Given the description of an element on the screen output the (x, y) to click on. 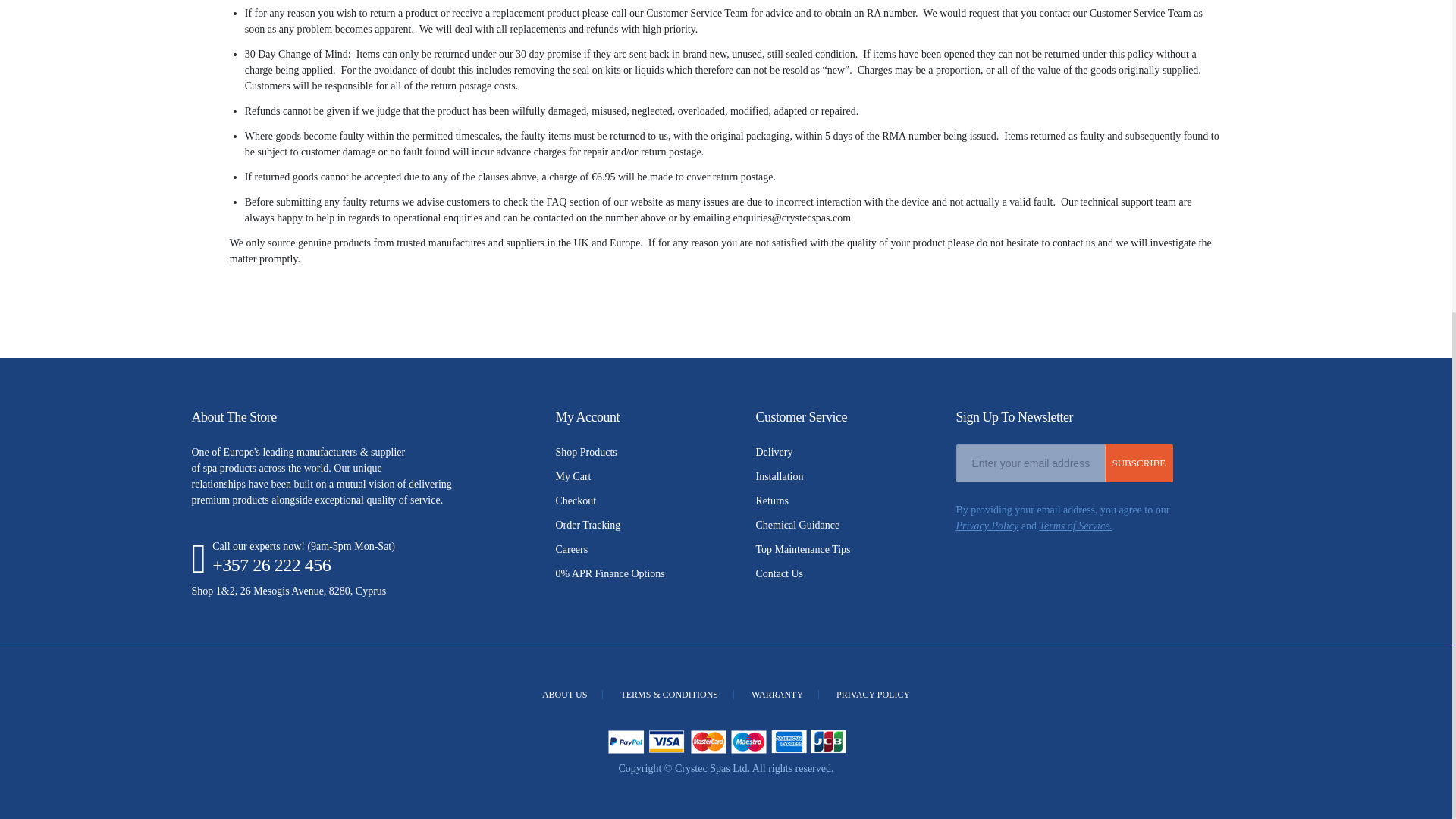
Terms of Service. (1075, 525)
Subscribe (1138, 463)
Privacy Policy (986, 525)
